Given the description of an element on the screen output the (x, y) to click on. 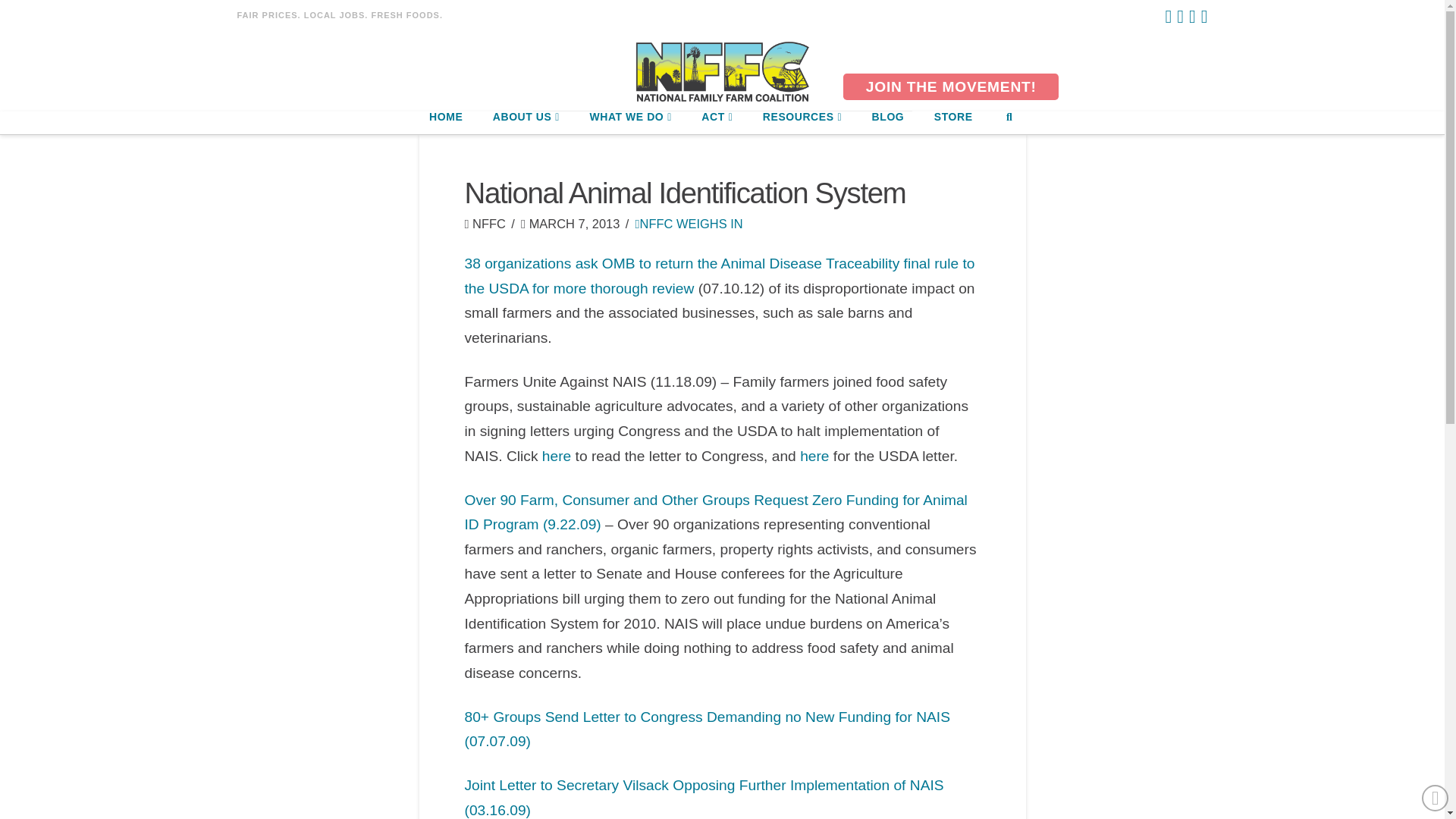
ABOUT US (526, 122)
BLOG (887, 122)
HOME (445, 122)
RESOURCES (802, 122)
WHAT WE DO (629, 122)
ACT (715, 122)
JOIN THE MOVEMENT! (950, 86)
STORE (952, 122)
